Given the description of an element on the screen output the (x, y) to click on. 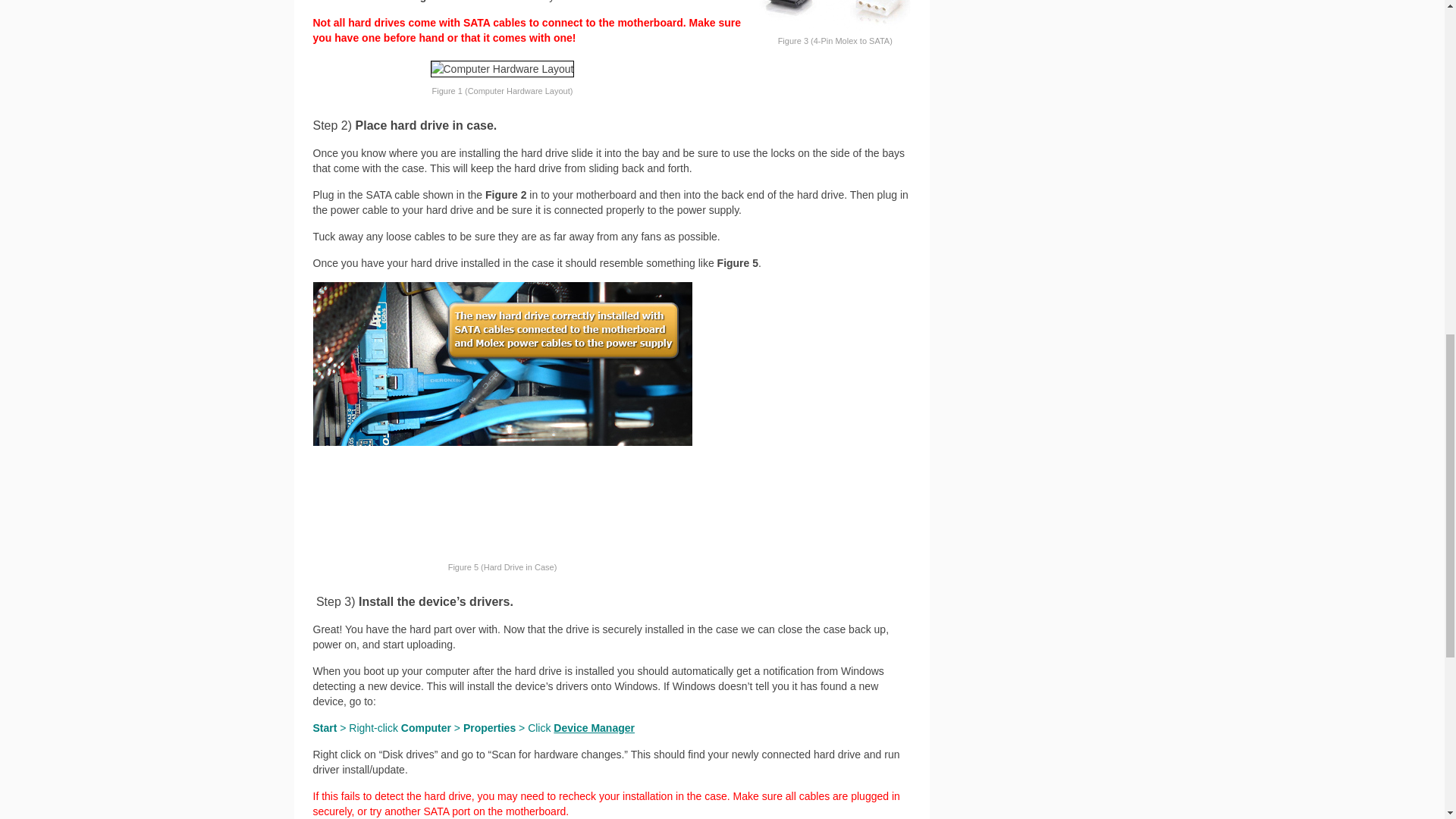
4-pin-molex-sata (834, 15)
pic1-overview (502, 68)
pic-3-installed (502, 419)
